Given the description of an element on the screen output the (x, y) to click on. 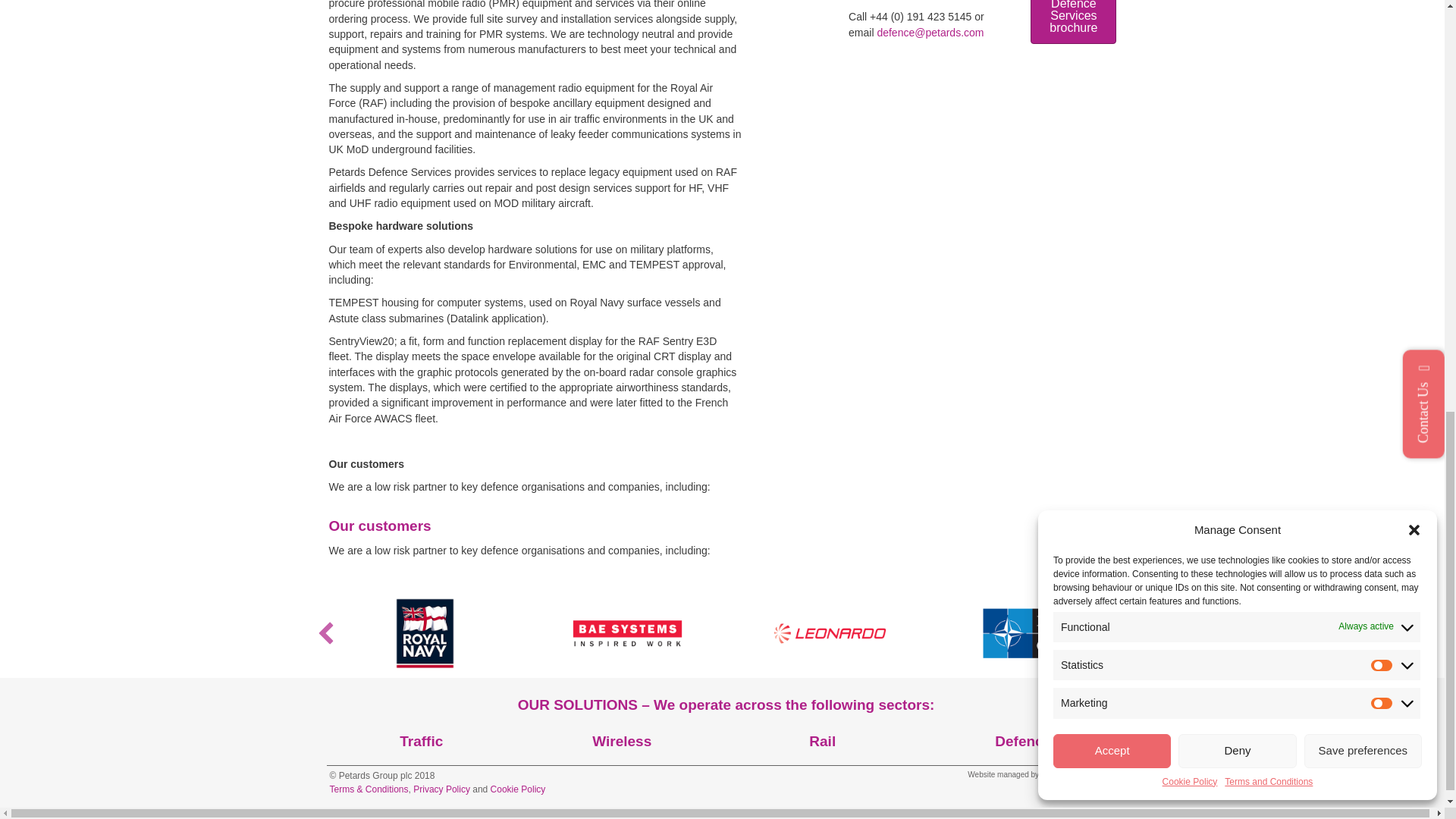
BAE-500x350-centred-transparent (626, 632)
RoyalNavy-500x350-centred-transparent (424, 632)
